Given the description of an element on the screen output the (x, y) to click on. 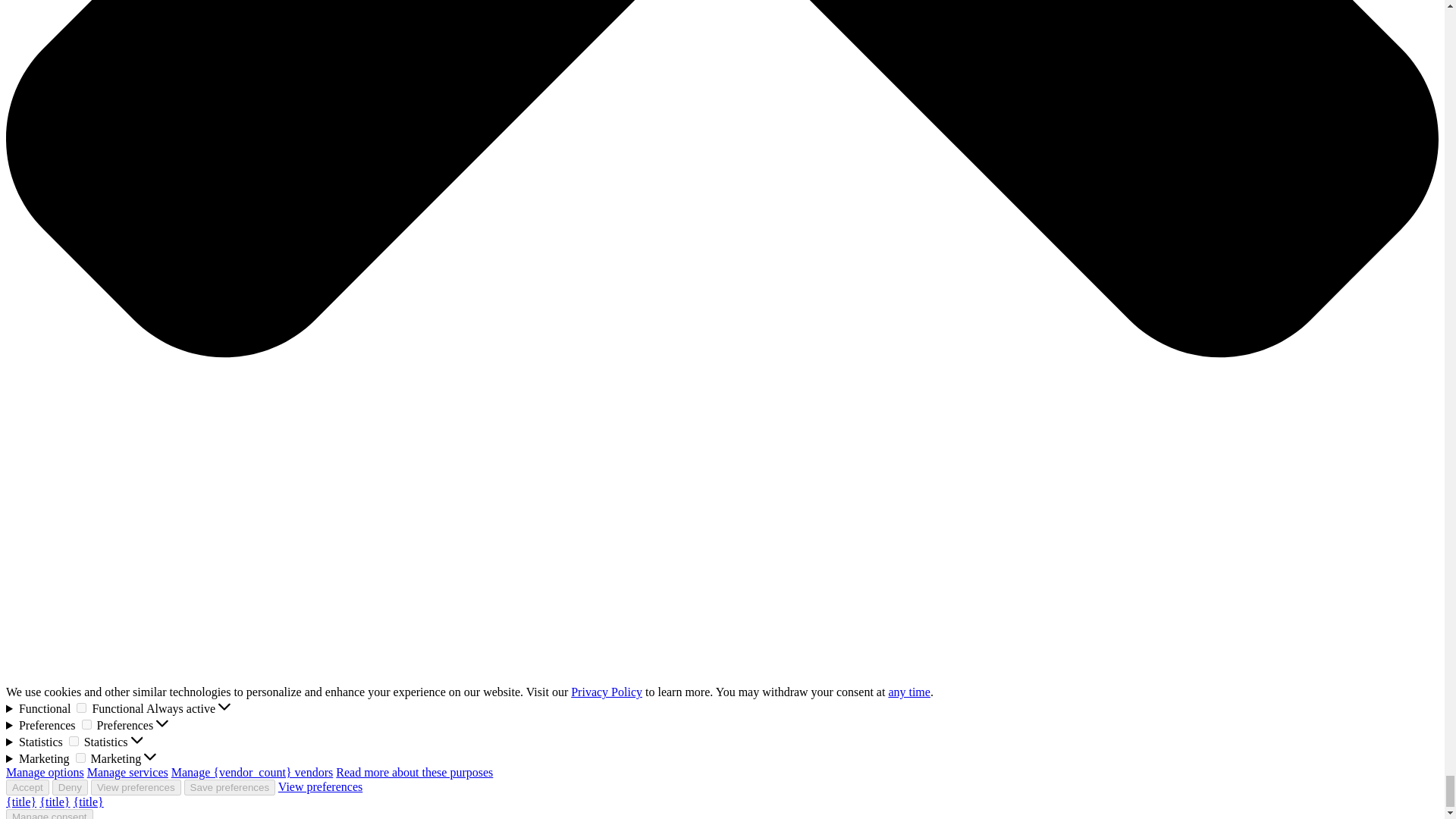
1 (73, 741)
1 (81, 707)
1 (80, 757)
1 (86, 724)
